Given the description of an element on the screen output the (x, y) to click on. 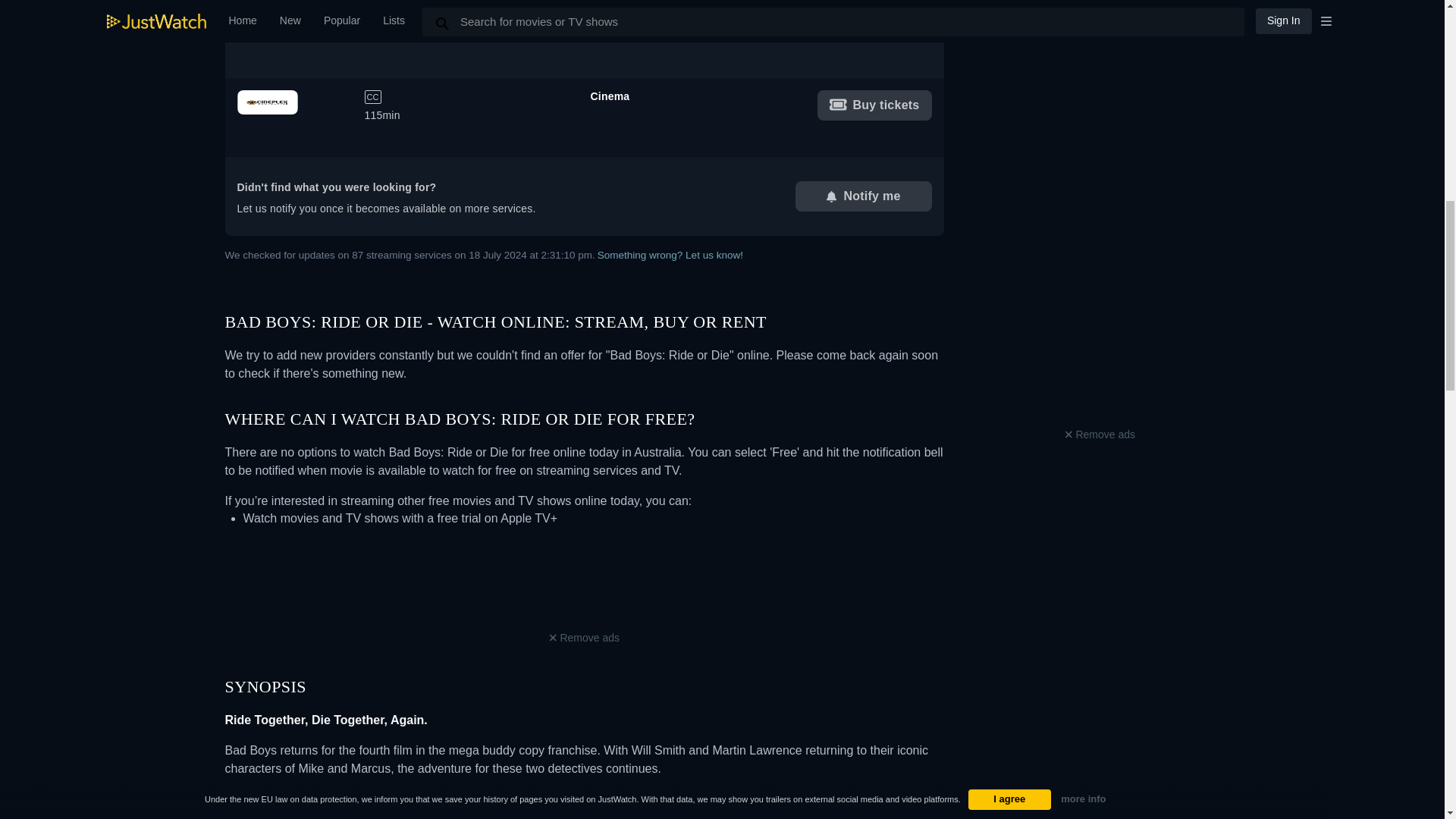
Notify me (862, 195)
Buy tickets (873, 26)
Remove ads (583, 38)
Buy tickets (584, 638)
